Given the description of an element on the screen output the (x, y) to click on. 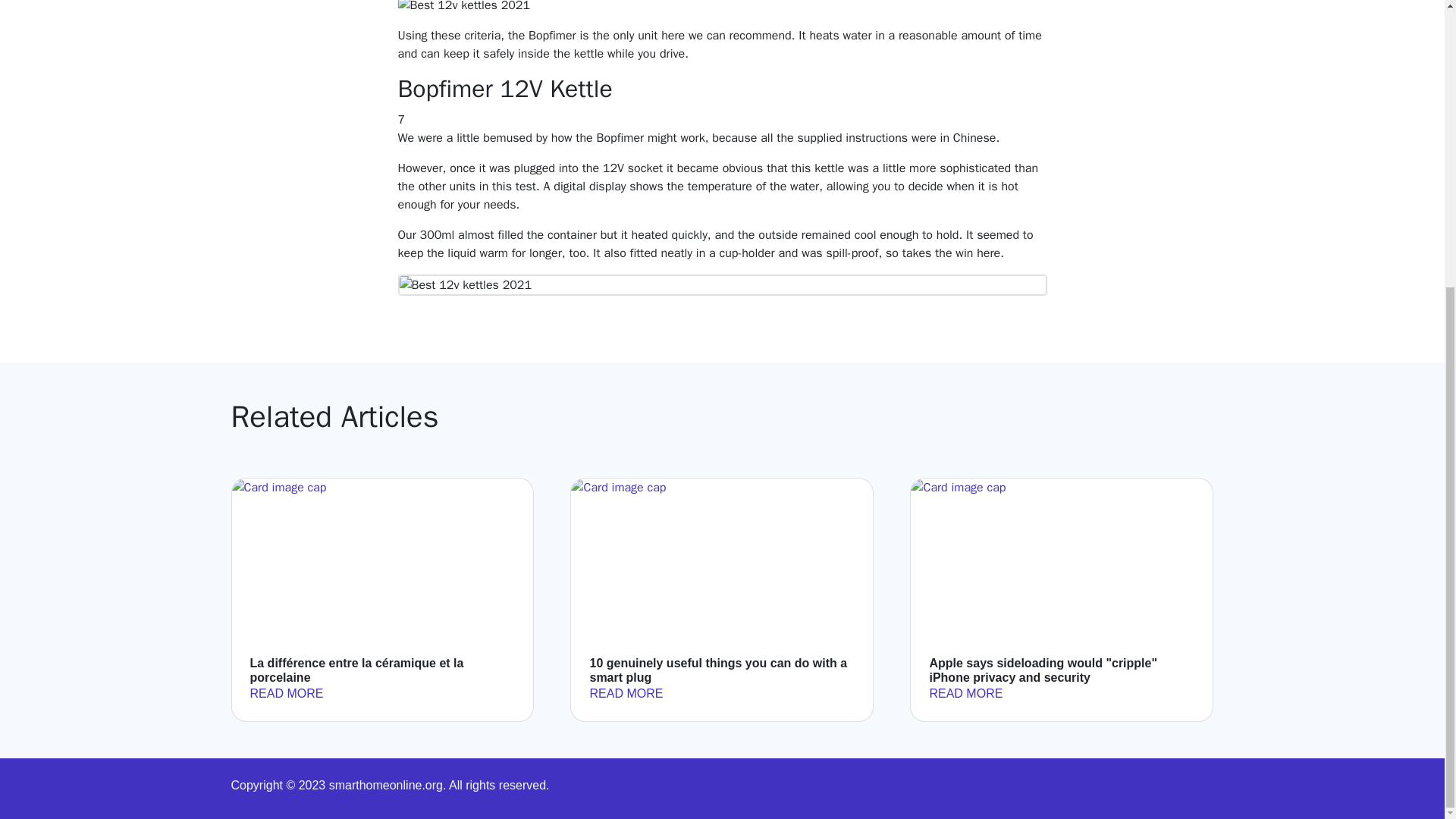
Best 12v kettles 2021 (463, 7)
